Given the description of an element on the screen output the (x, y) to click on. 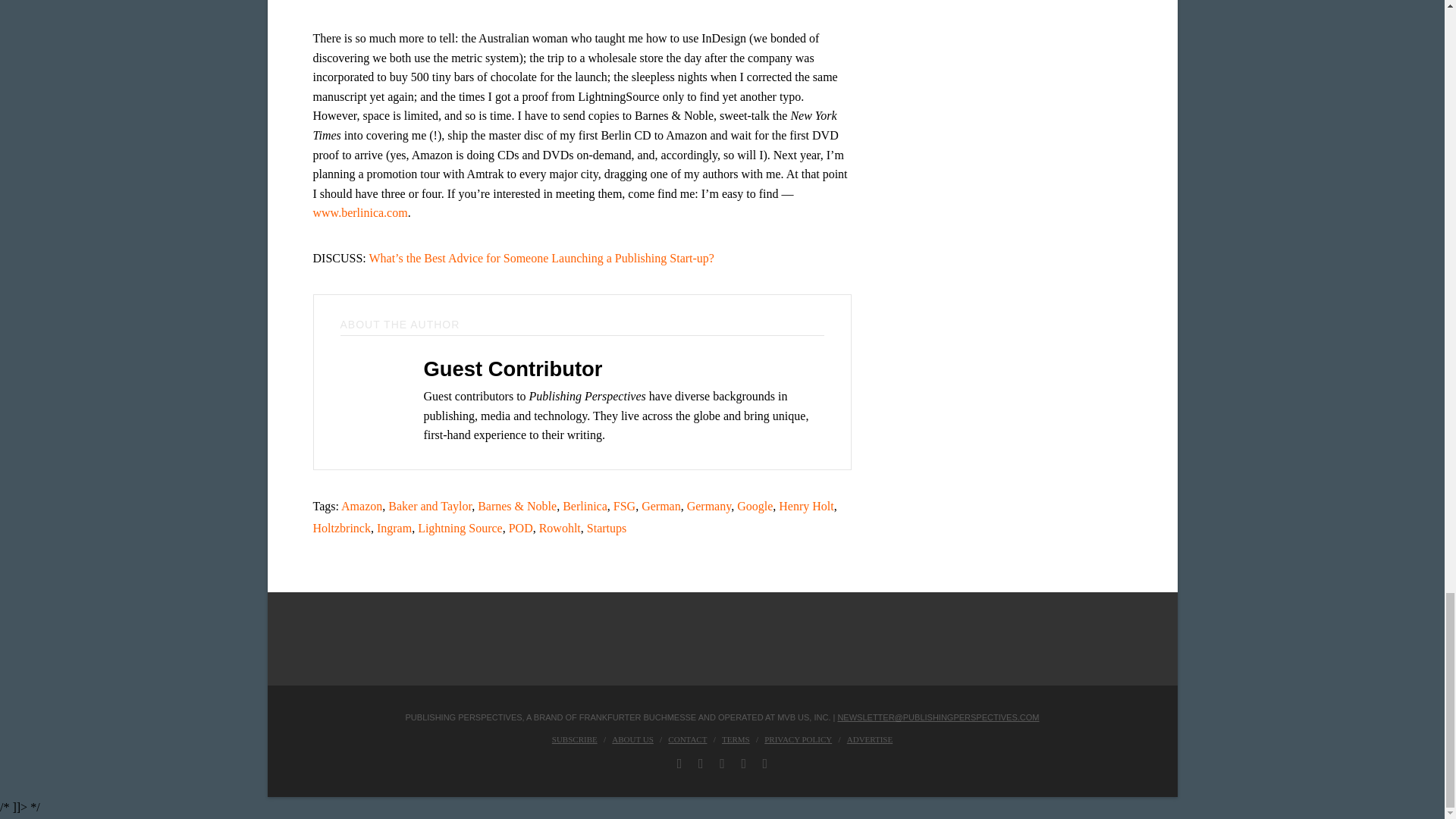
Berlinica (584, 505)
Berlin Young People (793, 2)
Amazon (360, 505)
Baker and Taylor (429, 505)
www.berlinica.com (360, 212)
Terms and Conditions (735, 738)
Subscribe to Publishing Perspectives (573, 738)
FSG (623, 505)
